Given the description of an element on the screen output the (x, y) to click on. 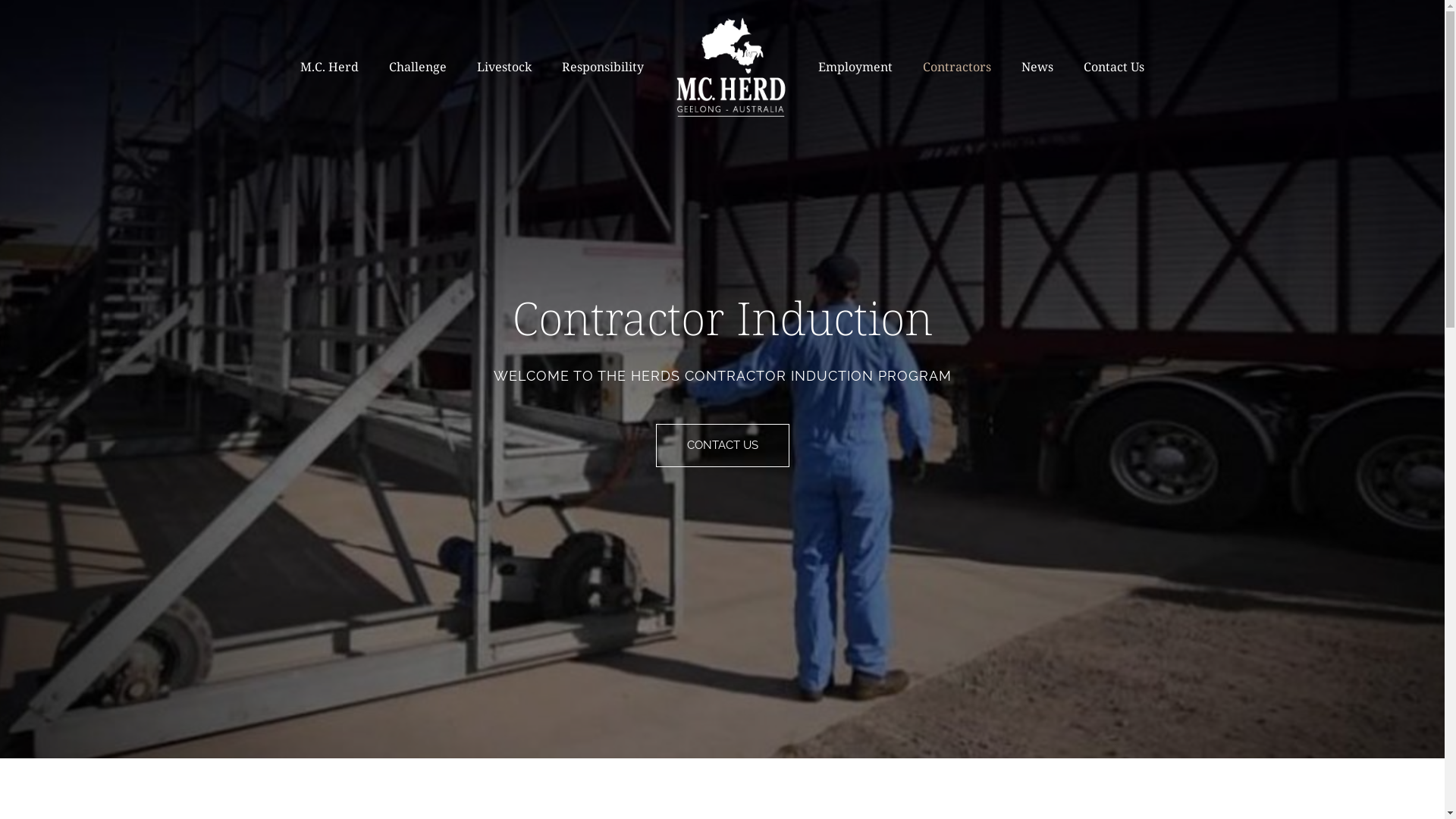
Home Element type: text (730, 66)
Challenge Element type: text (417, 66)
Livestock Element type: text (503, 66)
Contact Us Element type: text (1113, 66)
Contractors Element type: text (956, 66)
Responsibility Element type: text (602, 66)
Employment Element type: text (855, 66)
M.C. Herd Element type: text (329, 66)
News Element type: text (1037, 66)
